Given the description of an element on the screen output the (x, y) to click on. 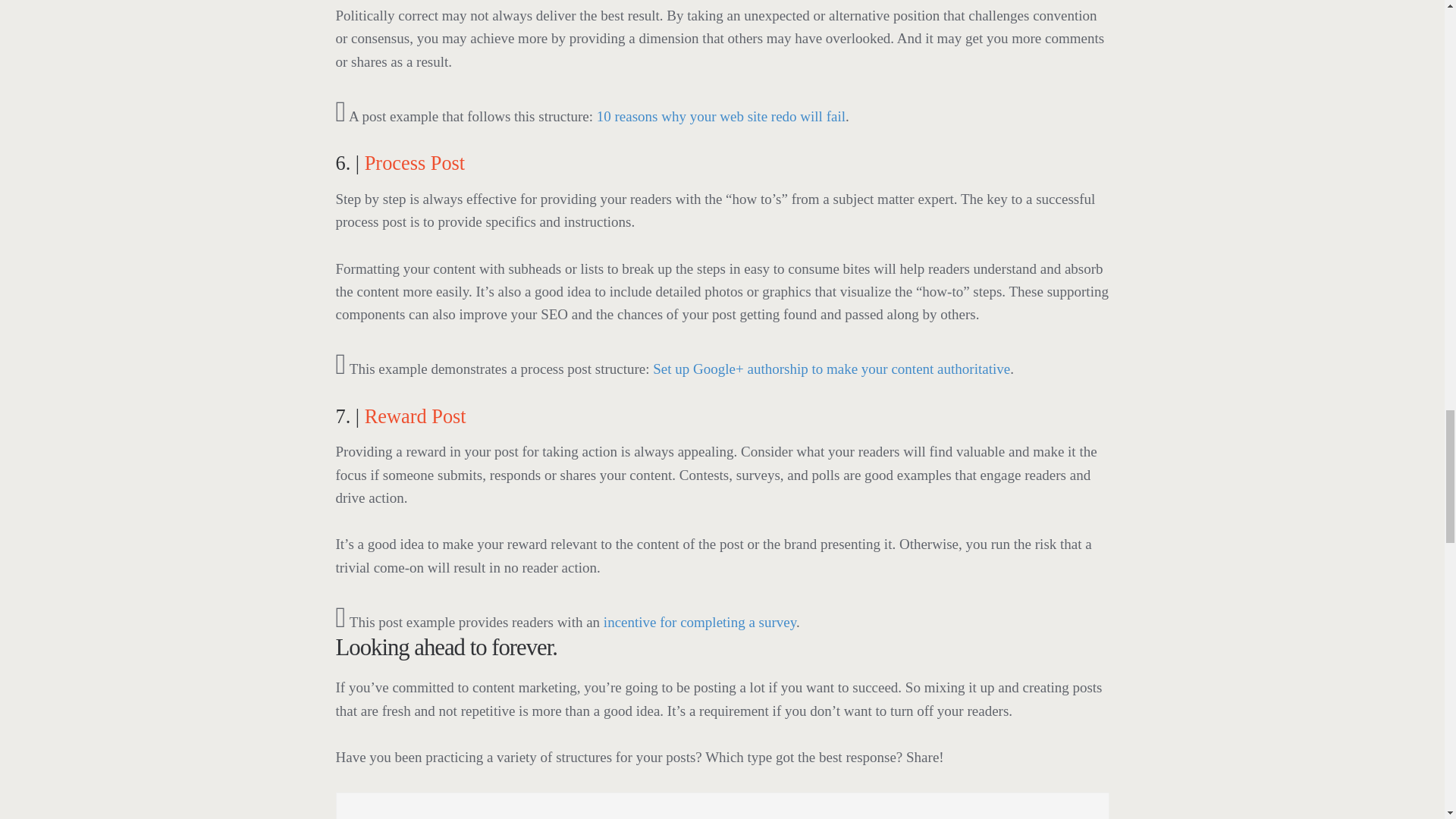
10 reasons why your web site redo will fail (720, 116)
